Given the description of an element on the screen output the (x, y) to click on. 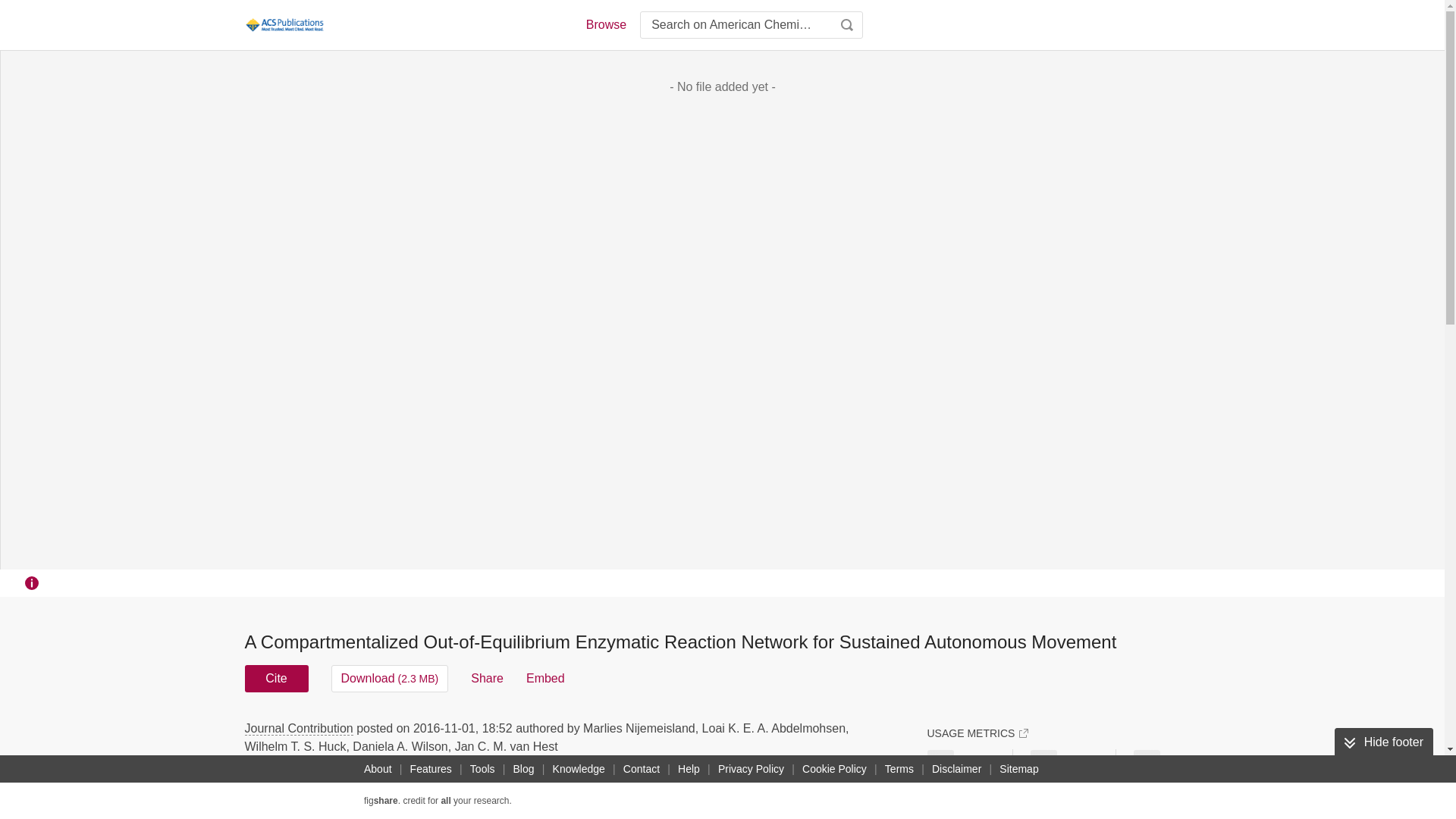
Share (486, 678)
Hide footer (1383, 742)
Embed (544, 678)
Browse (605, 24)
Cite (275, 678)
About (377, 769)
USAGE METRICS (976, 732)
